Given the description of an element on the screen output the (x, y) to click on. 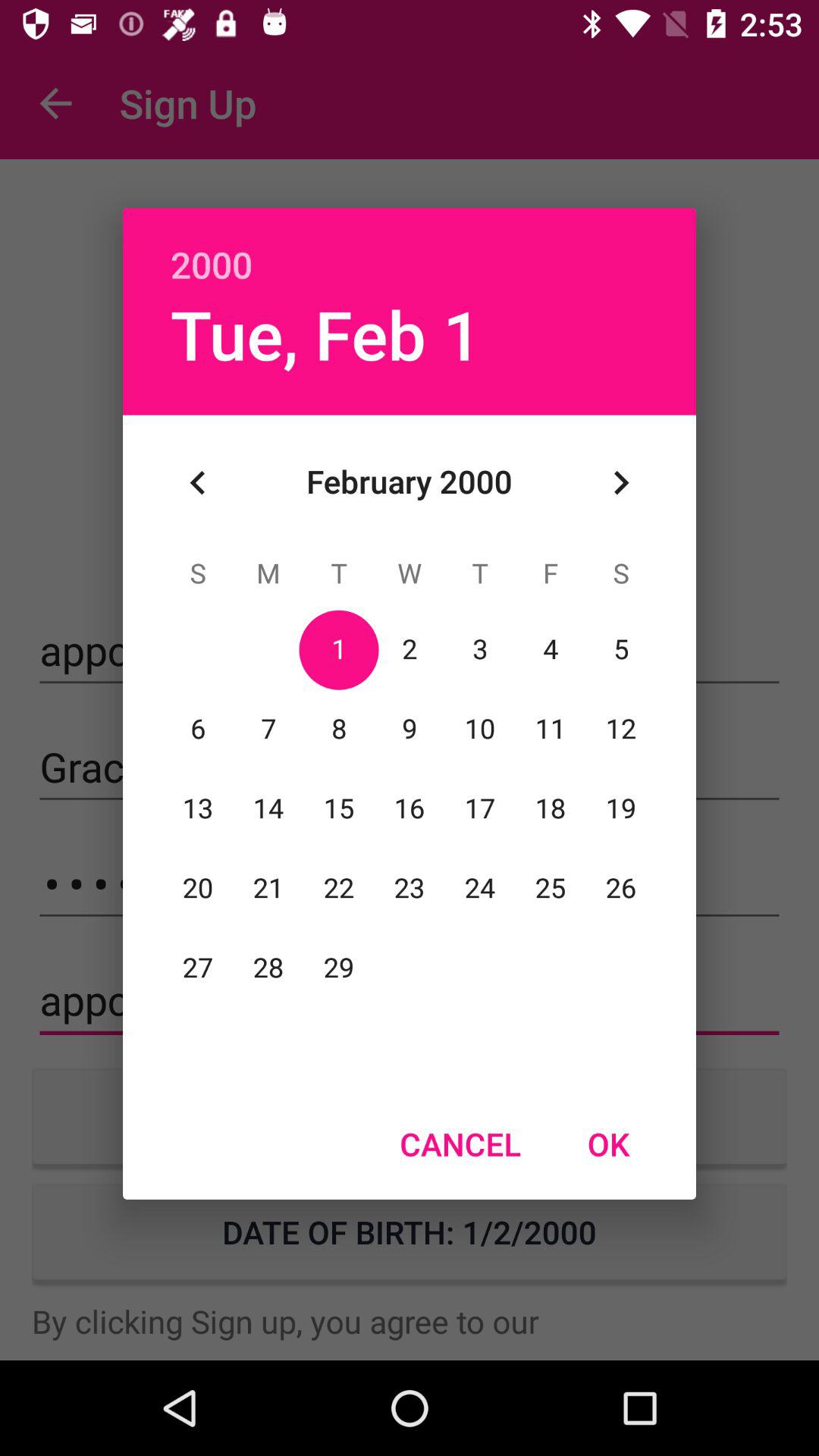
tap the 2000 item (409, 248)
